Given the description of an element on the screen output the (x, y) to click on. 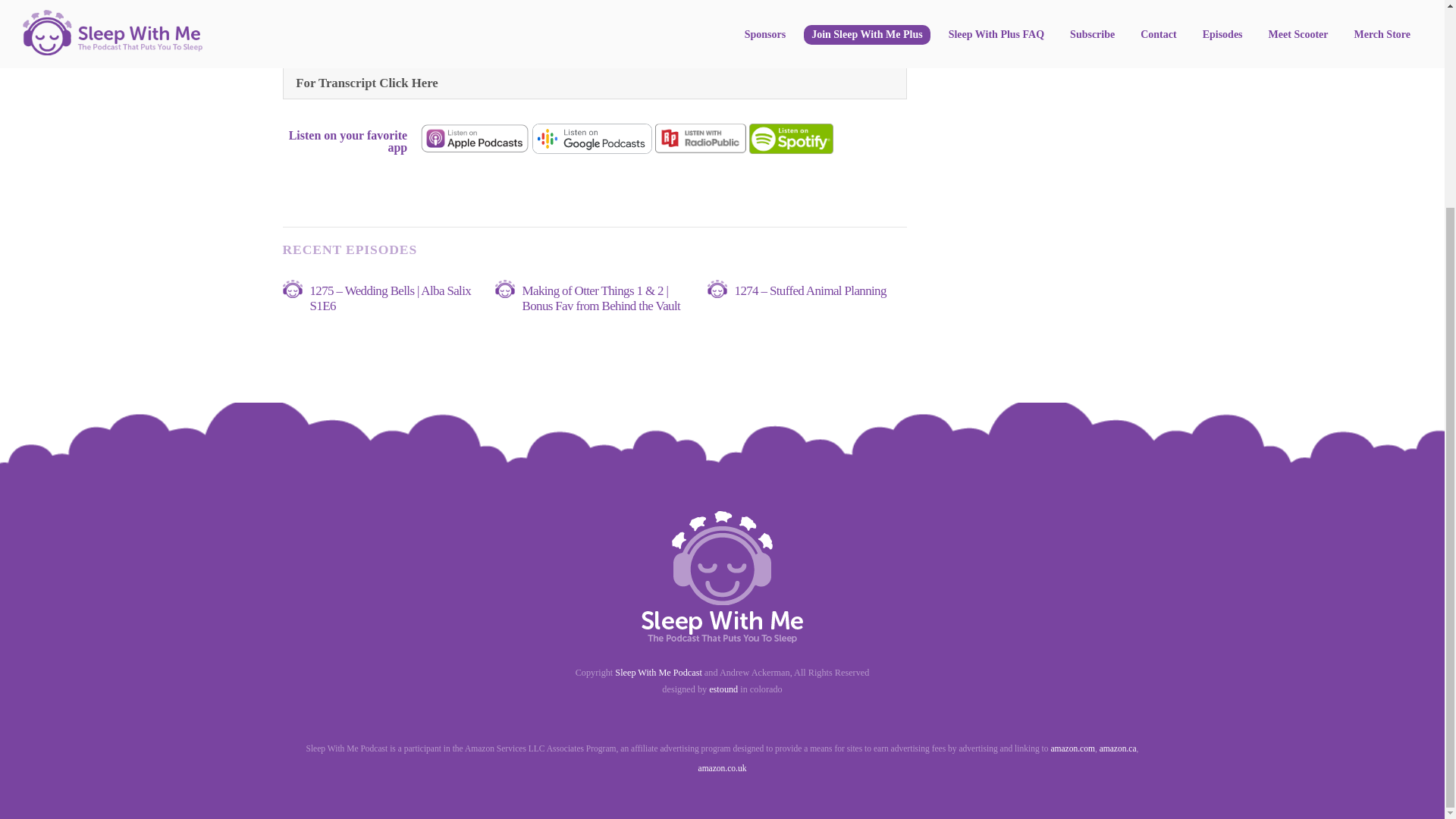
Sleep With Me (722, 636)
amazon.ca (1118, 747)
amazon.com (1071, 747)
amazon.co.uk (722, 768)
For Transcript Click Here (595, 82)
Sleep With Me Podcast (657, 672)
estound (723, 688)
CHECK OUT THE FULL ARCHIVES (1018, 3)
Sleep With Me (722, 577)
